Given the description of an element on the screen output the (x, y) to click on. 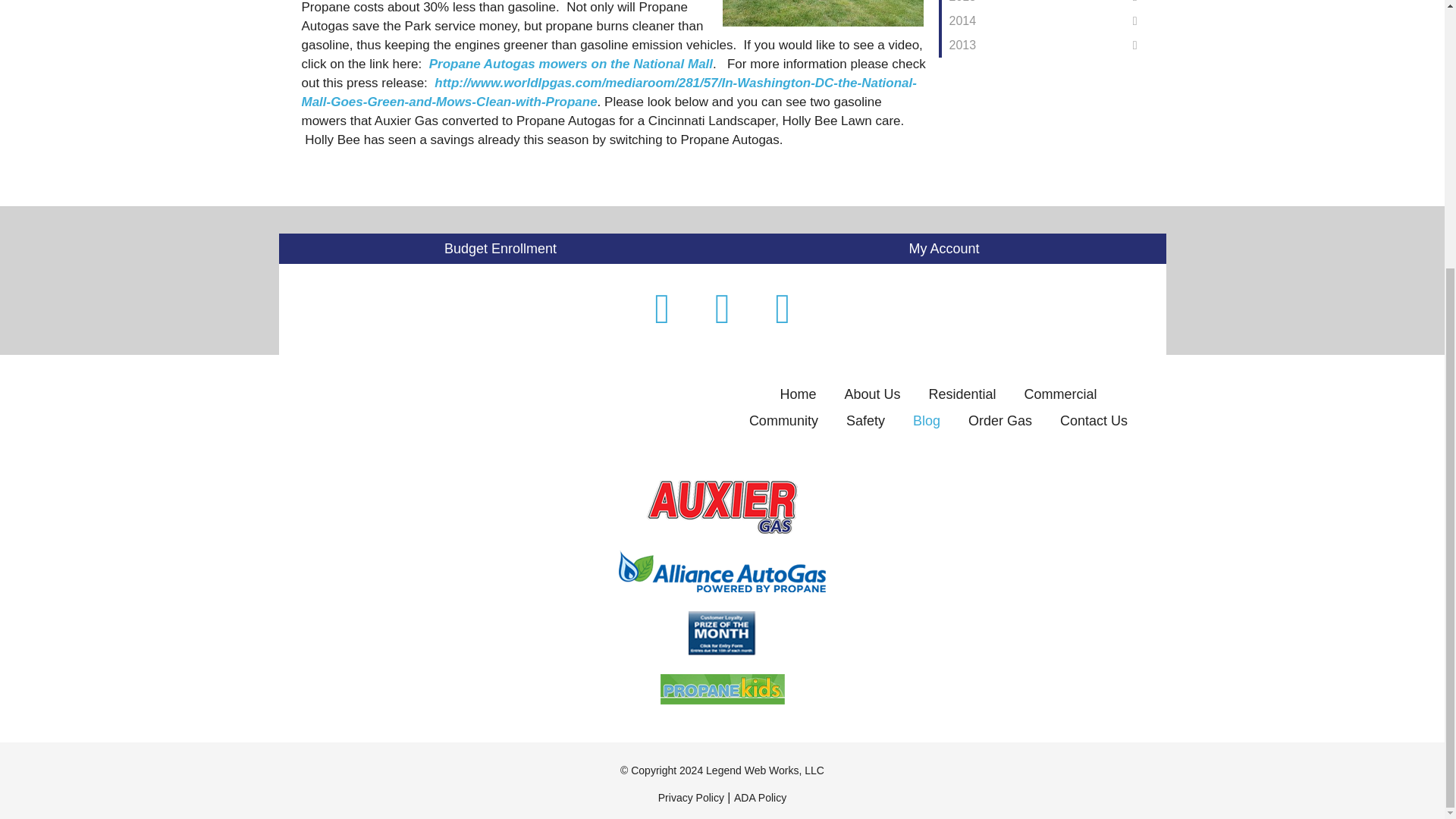
visit our Pinterest page (782, 309)
visit our facebook page (662, 309)
visit our twitter page (721, 309)
